Given the description of an element on the screen output the (x, y) to click on. 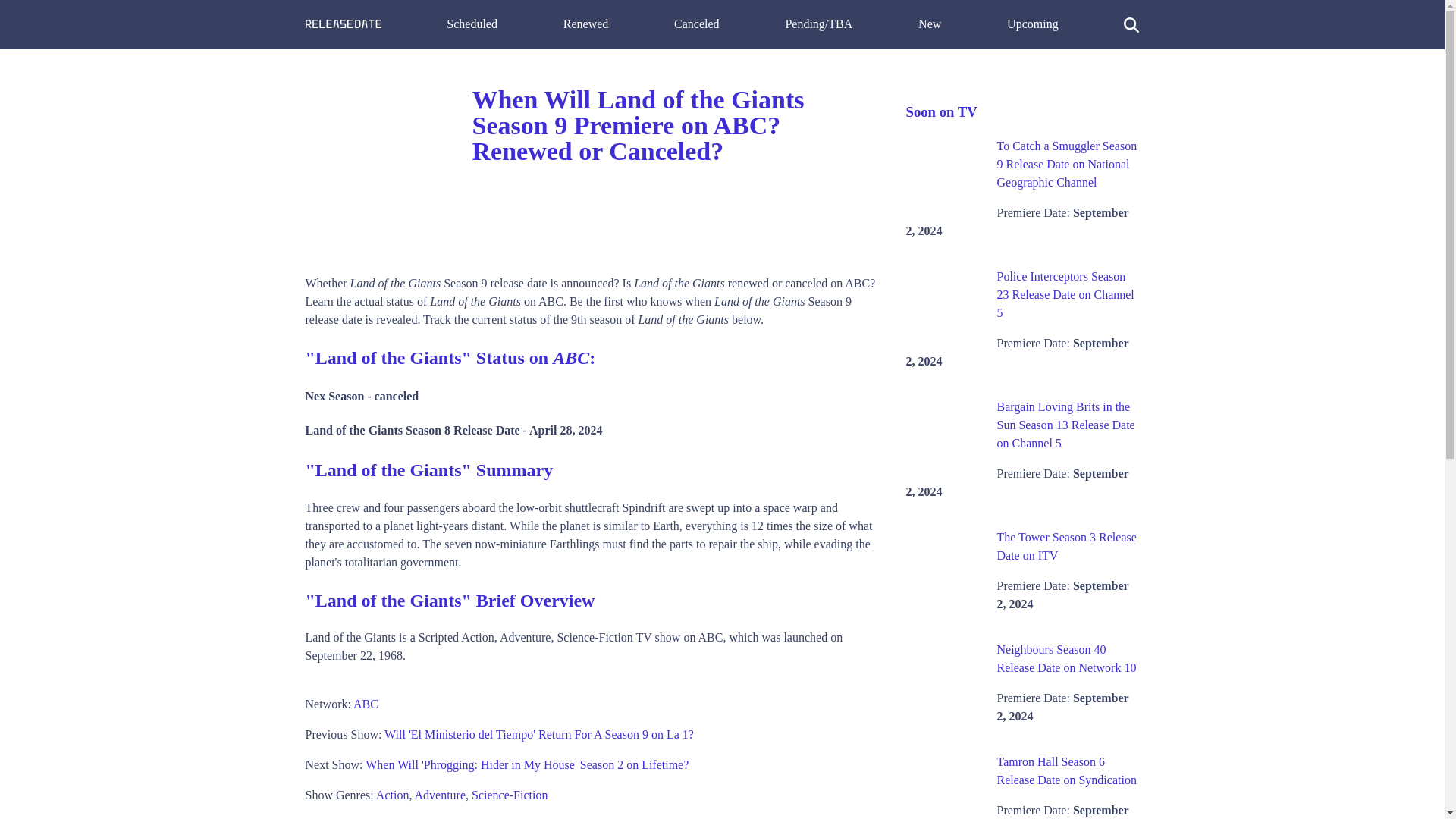
Renewed (585, 23)
Canceled (696, 23)
Upcoming (1032, 23)
Action (392, 794)
Adventure (439, 794)
The Tower Season 3 Release Date on ITV (1065, 545)
New (929, 23)
